Given the description of an element on the screen output the (x, y) to click on. 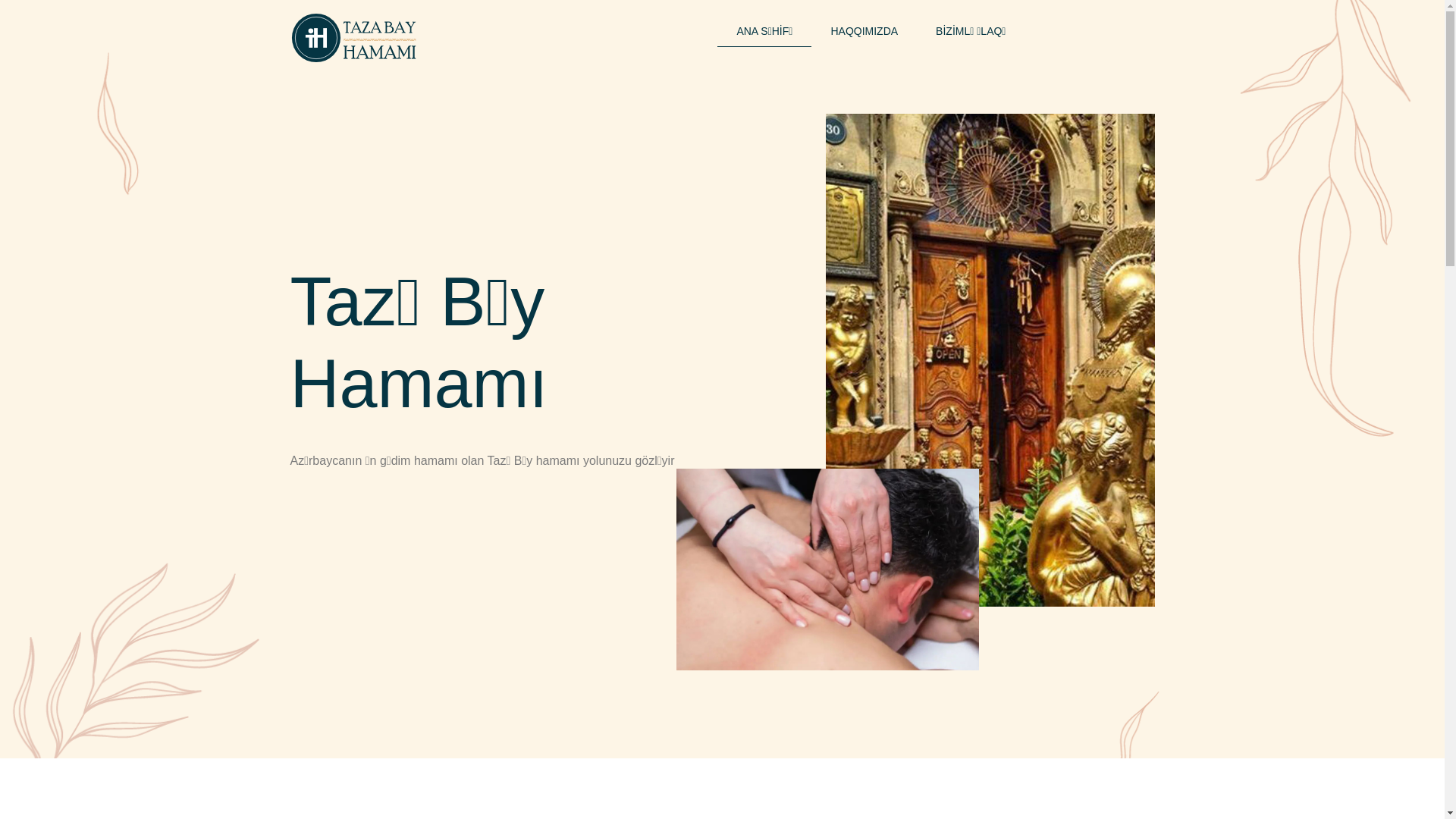
HAQQIMIZDA Element type: text (863, 31)
